Given the description of an element on the screen output the (x, y) to click on. 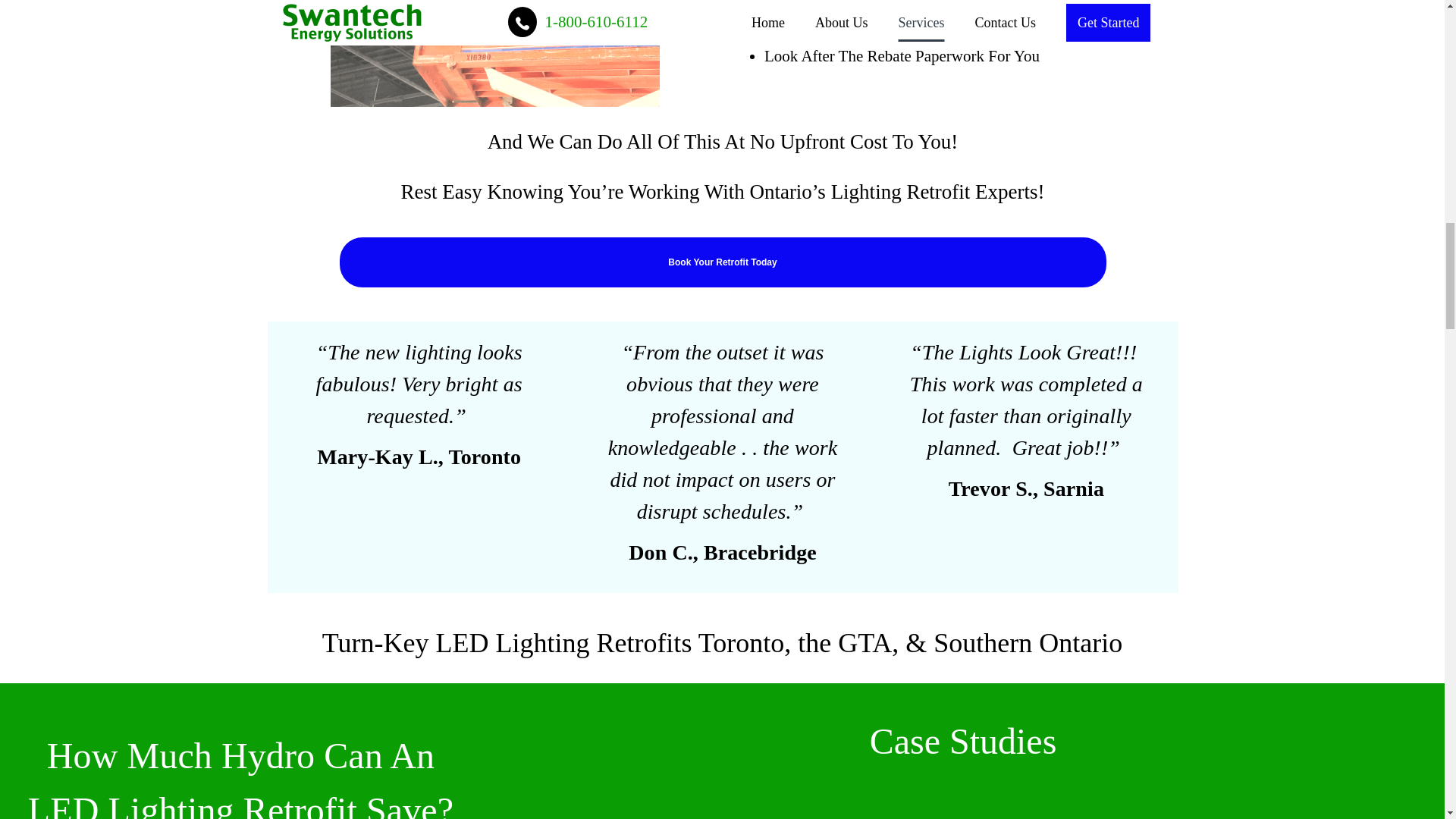
Book Your Retrofit Today (722, 262)
